Given the description of an element on the screen output the (x, y) to click on. 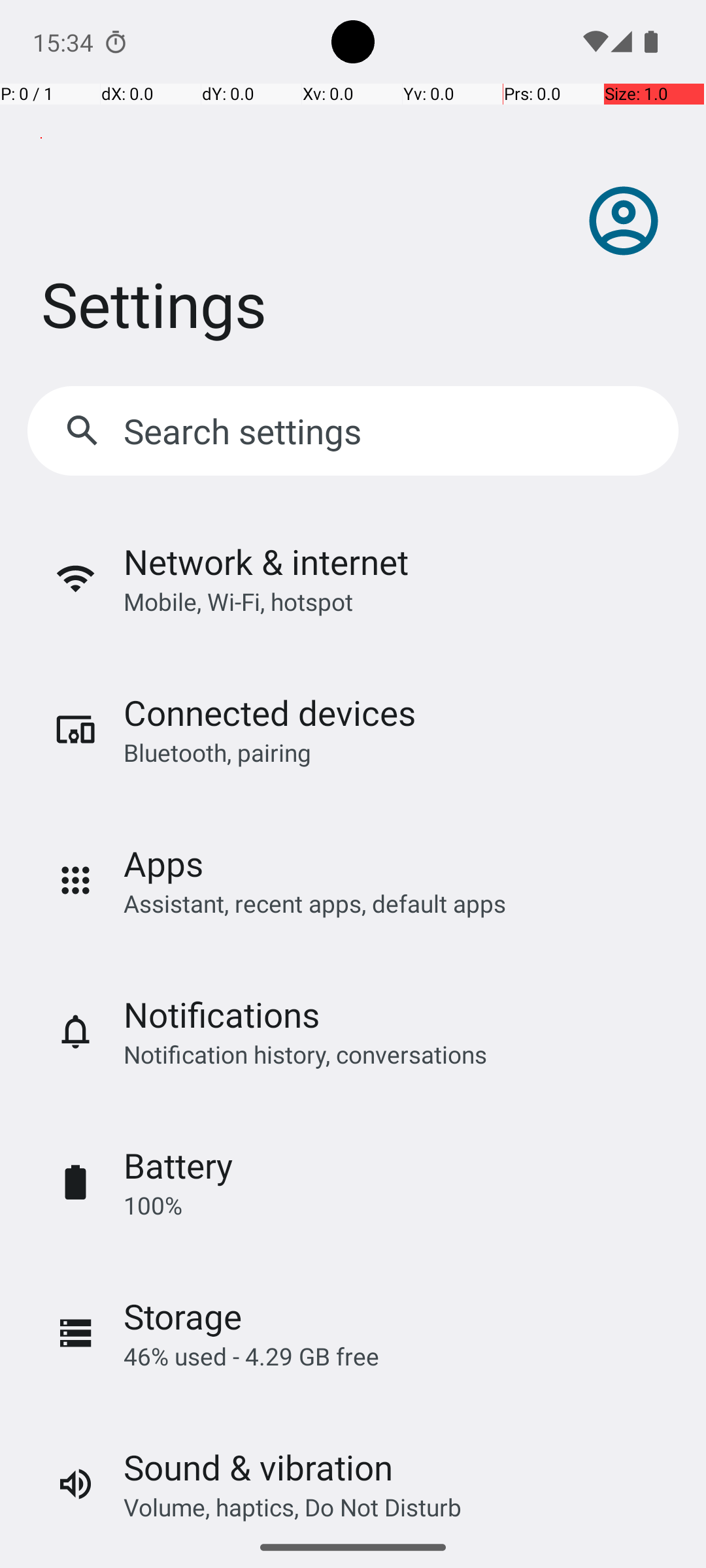
46% used - 4.29 GB free Element type: android.widget.TextView (251, 1355)
